Given the description of an element on the screen output the (x, y) to click on. 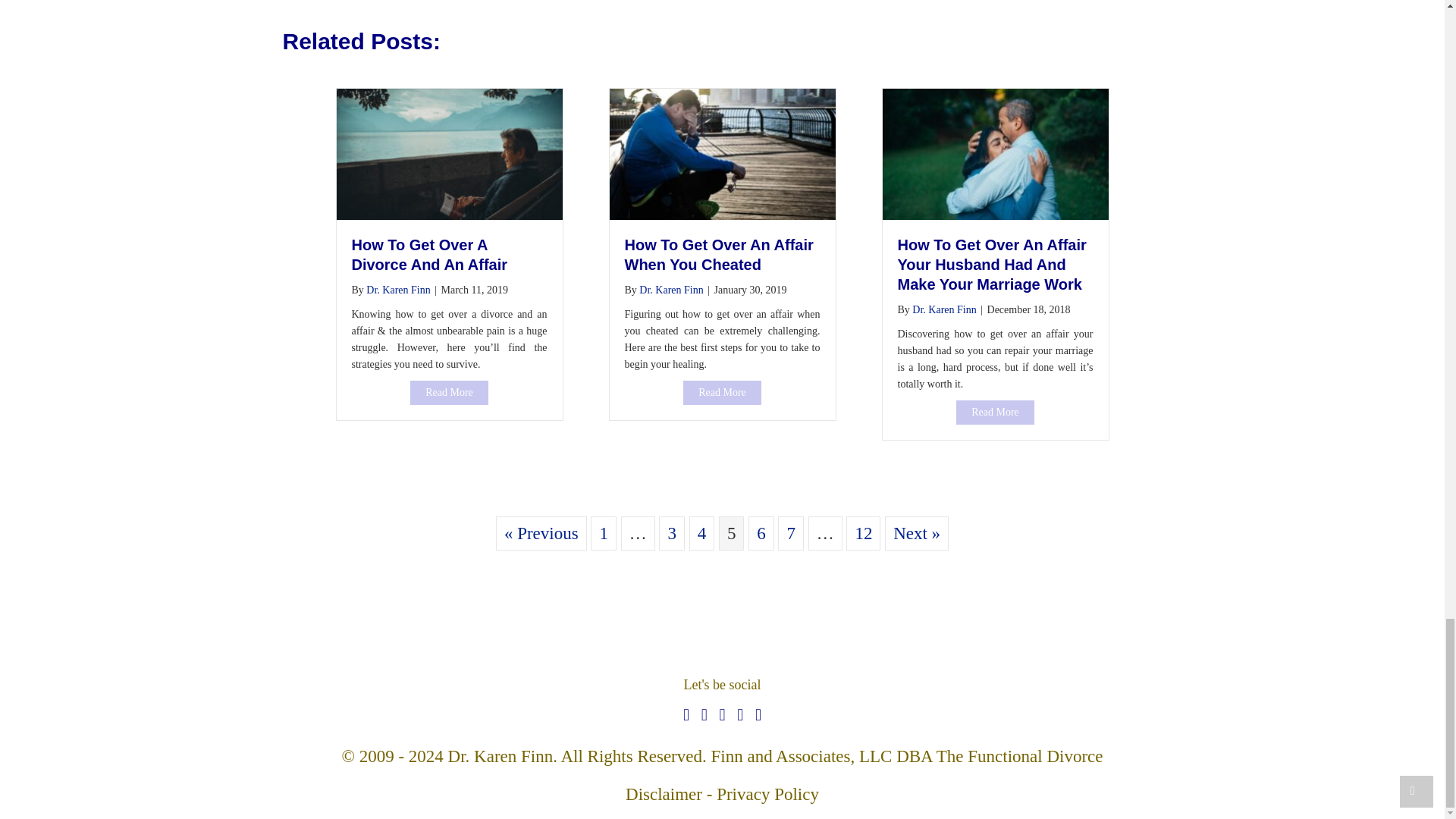
How To Get Over A Divorce And An Affair (449, 152)
How To Get Over A Divorce And An Affair (430, 254)
How To Get Over An Affair When You Cheated (722, 152)
How To Get Over A Divorce And An Affair (448, 392)
How To Get Over An Affair When You Cheated (721, 392)
How To Get Over An Affair When You Cheated (718, 254)
